Given the description of an element on the screen output the (x, y) to click on. 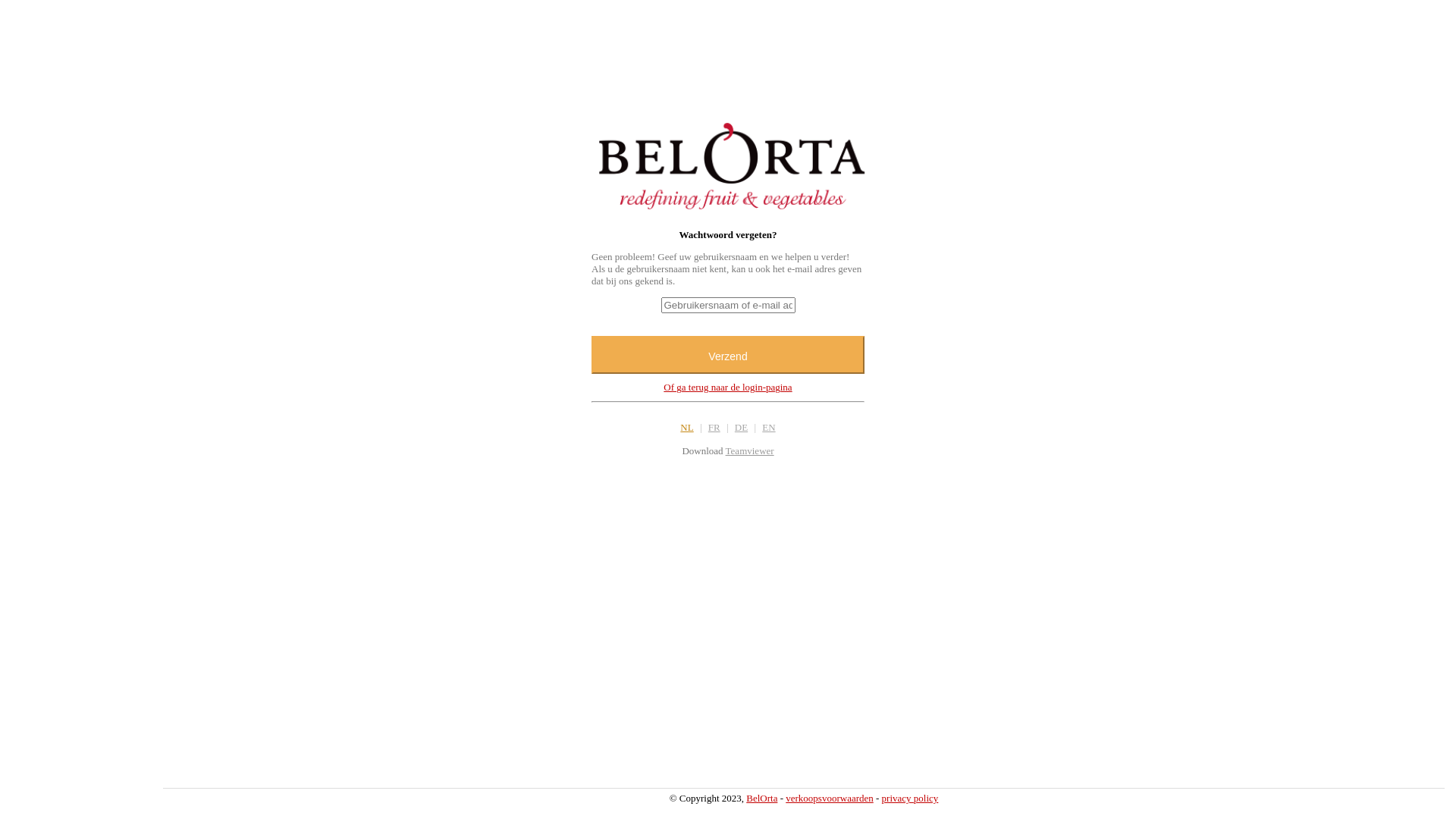
NL Element type: text (686, 426)
DE Element type: text (741, 426)
Of ga terug naar de login-pagina Element type: text (727, 386)
privacy policy Element type: text (909, 797)
FR Element type: text (714, 426)
BelOrta Element type: text (761, 797)
verkoopsvoorwaarden Element type: text (829, 797)
Verzend Element type: text (727, 354)
EN Element type: text (768, 426)
Teamviewer Element type: text (749, 446)
